Given the description of an element on the screen output the (x, y) to click on. 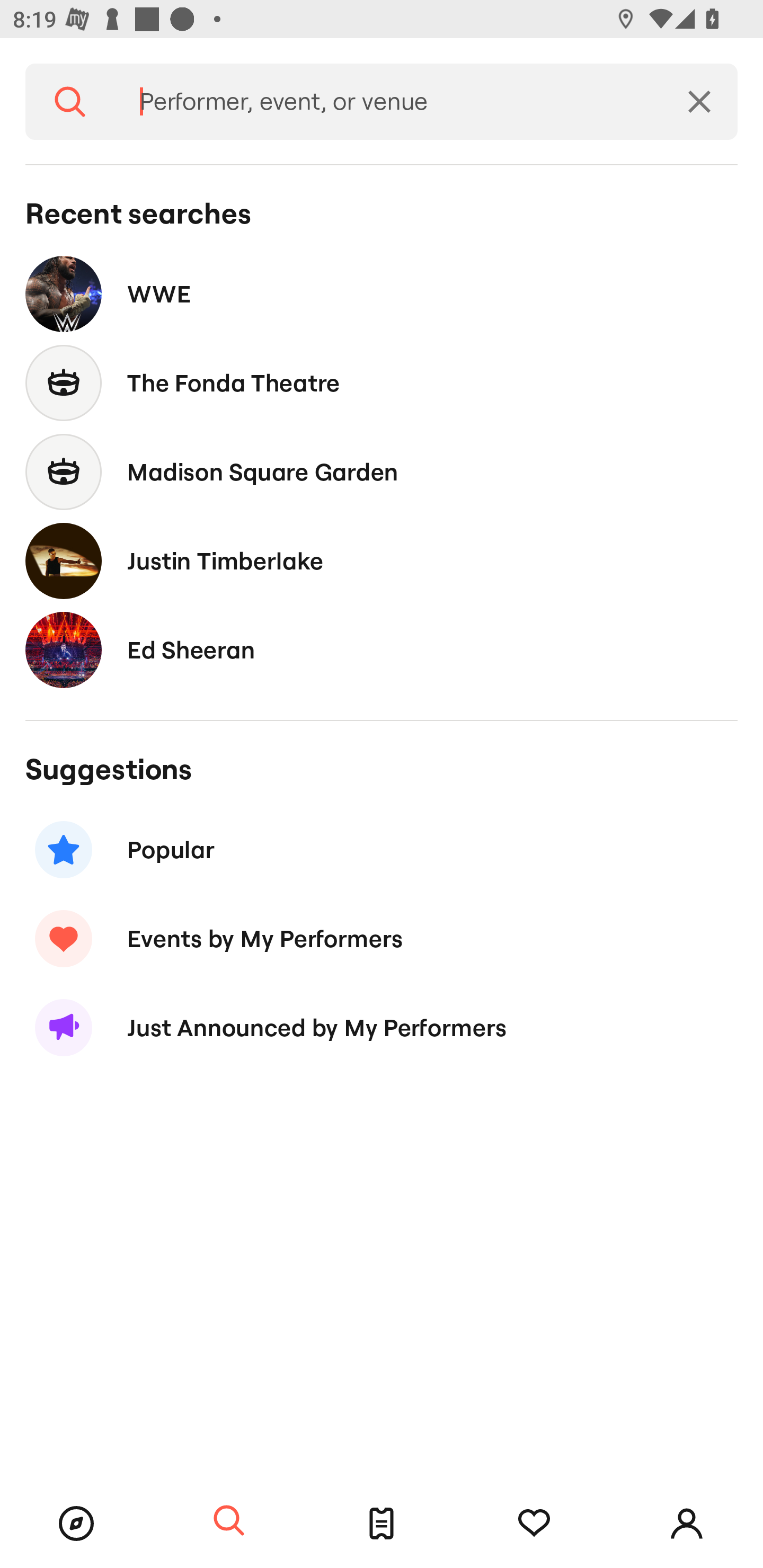
Search (69, 101)
Performer, event, or venue (387, 101)
Clear (699, 101)
WWE (381, 293)
The Fonda Theatre (381, 383)
Madison Square Garden (381, 471)
Justin Timberlake (381, 560)
Ed Sheeran (381, 649)
Popular (381, 849)
Events by My Performers (381, 938)
Just Announced by My Performers (381, 1027)
Browse (76, 1523)
Search (228, 1521)
Tickets (381, 1523)
Tracking (533, 1523)
Account (686, 1523)
